Given the description of an element on the screen output the (x, y) to click on. 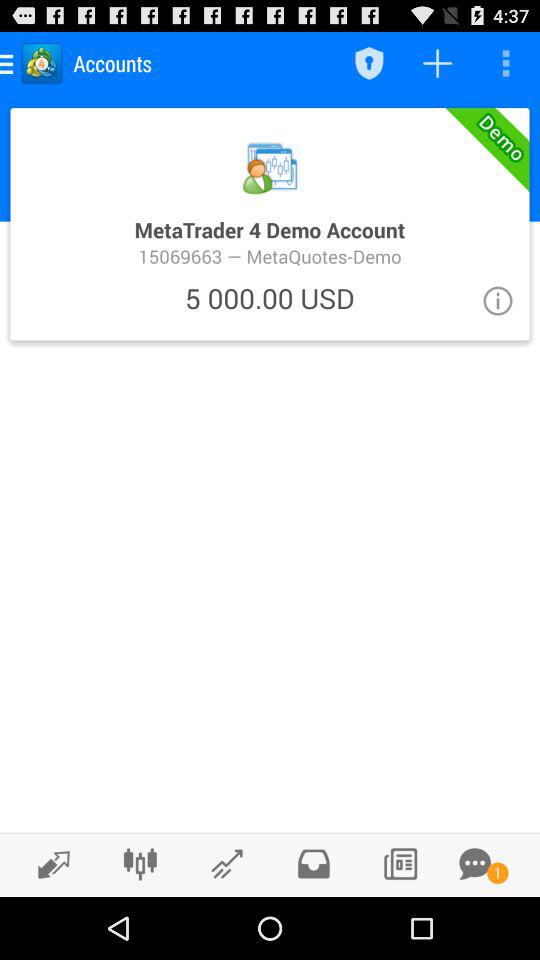
view more information (497, 300)
